Given the description of an element on the screen output the (x, y) to click on. 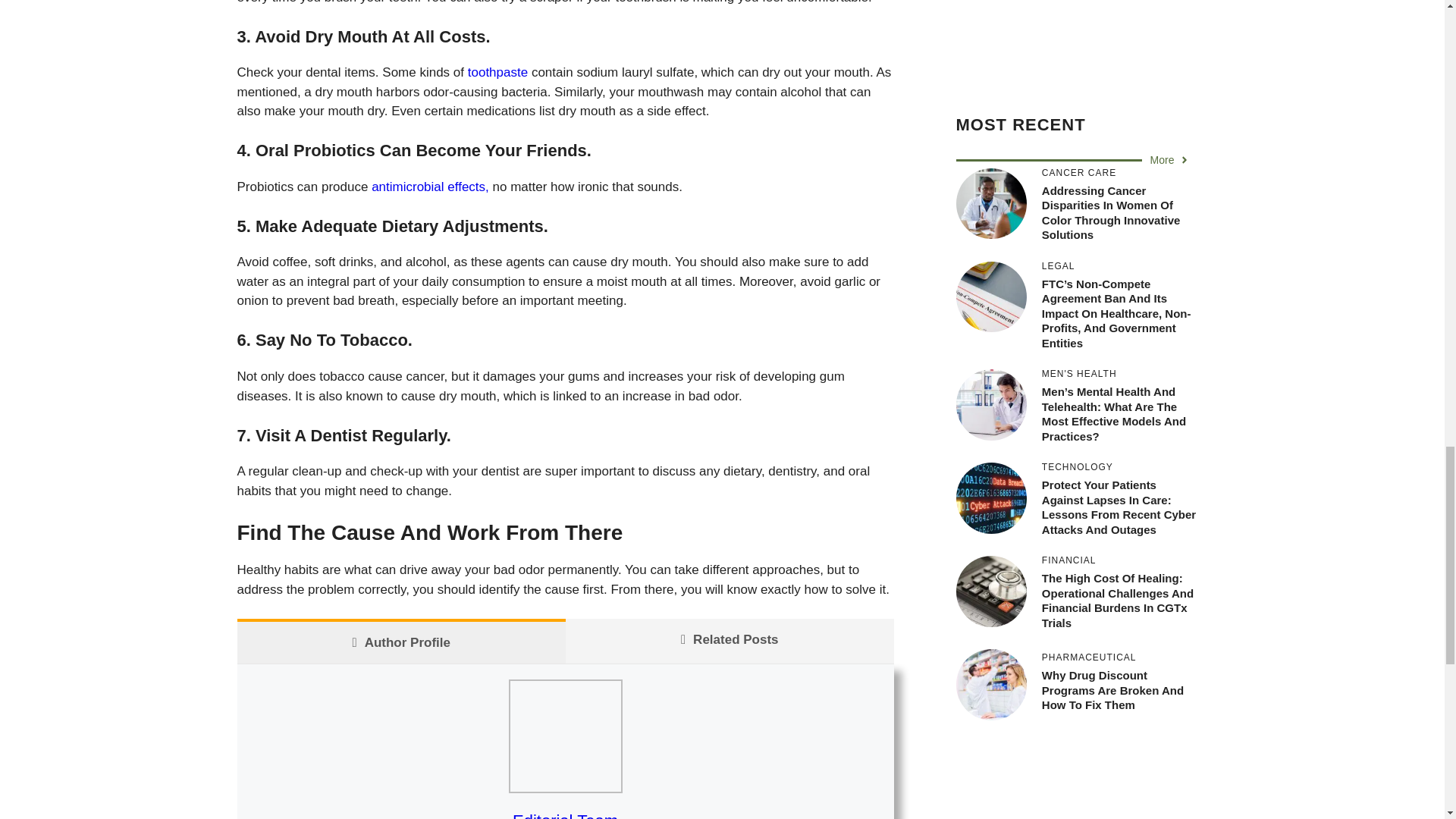
How Can I Permanently Get Rid of Bad Breath? 1 (564, 736)
Editorial Team (564, 815)
antimicrobial effects, (427, 186)
toothpaste (497, 72)
